Given the description of an element on the screen output the (x, y) to click on. 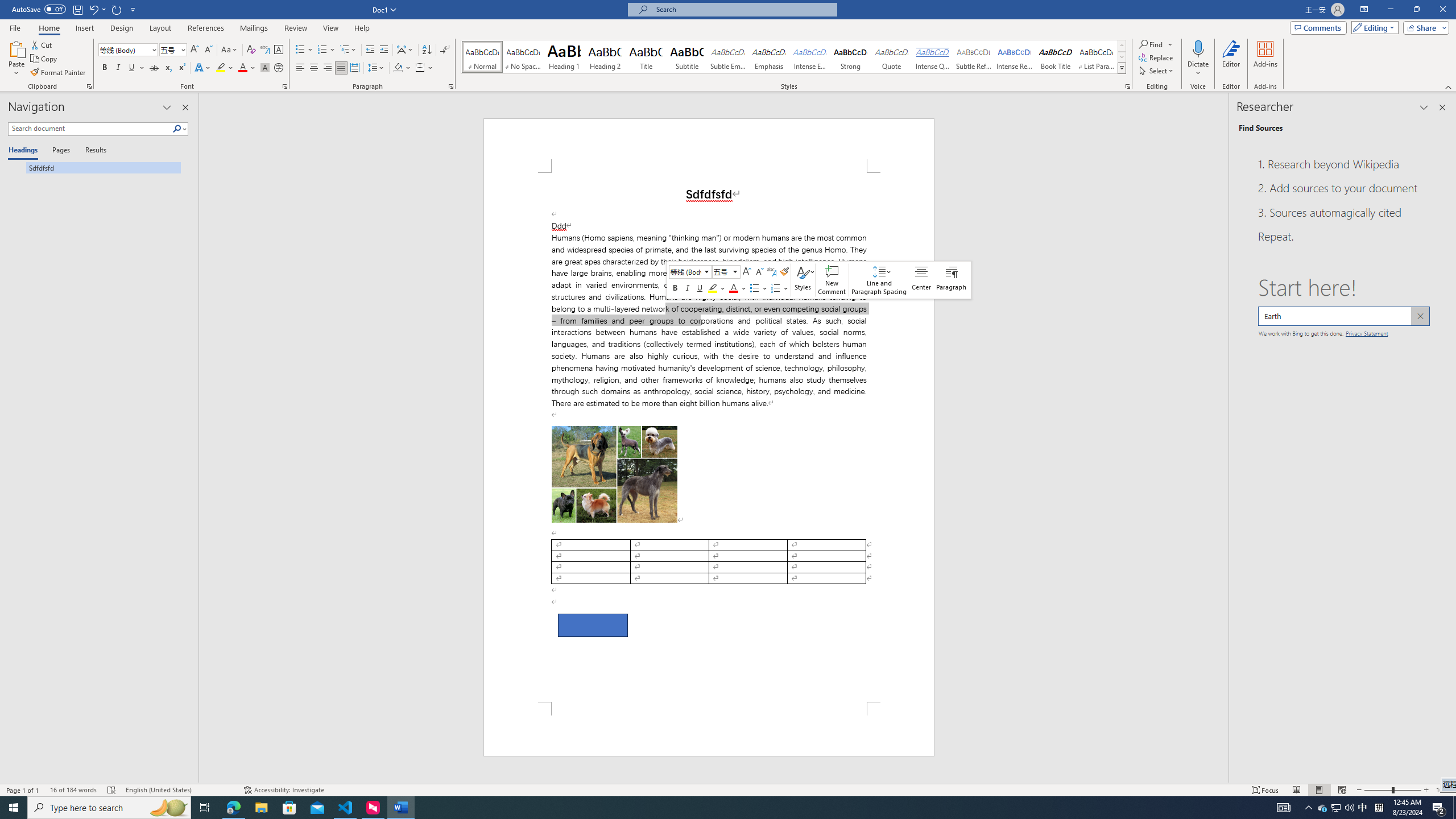
Strong (849, 56)
Page Number Page 1 of 1 (22, 790)
Find Sources (1260, 127)
Subtle Emphasis (727, 56)
Undo  (92, 9)
